Given the description of an element on the screen output the (x, y) to click on. 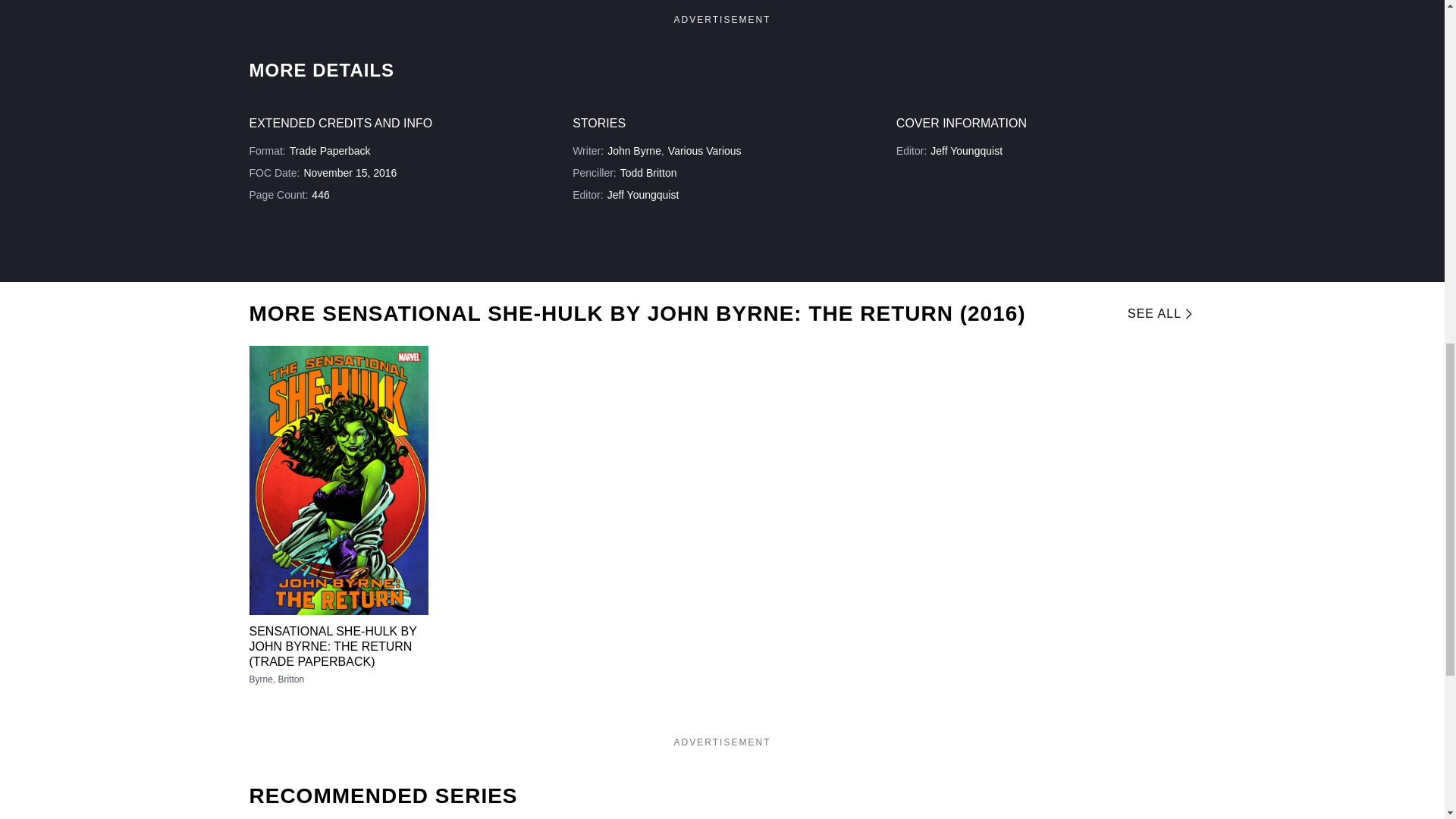
Byrne (263, 679)
Britton (291, 679)
SEE ALL (1156, 313)
Jeff Youngquist (643, 194)
Various Various (704, 150)
Jeff Youngquist (966, 150)
Todd Britton (648, 173)
John Byrne (634, 150)
